Given the description of an element on the screen output the (x, y) to click on. 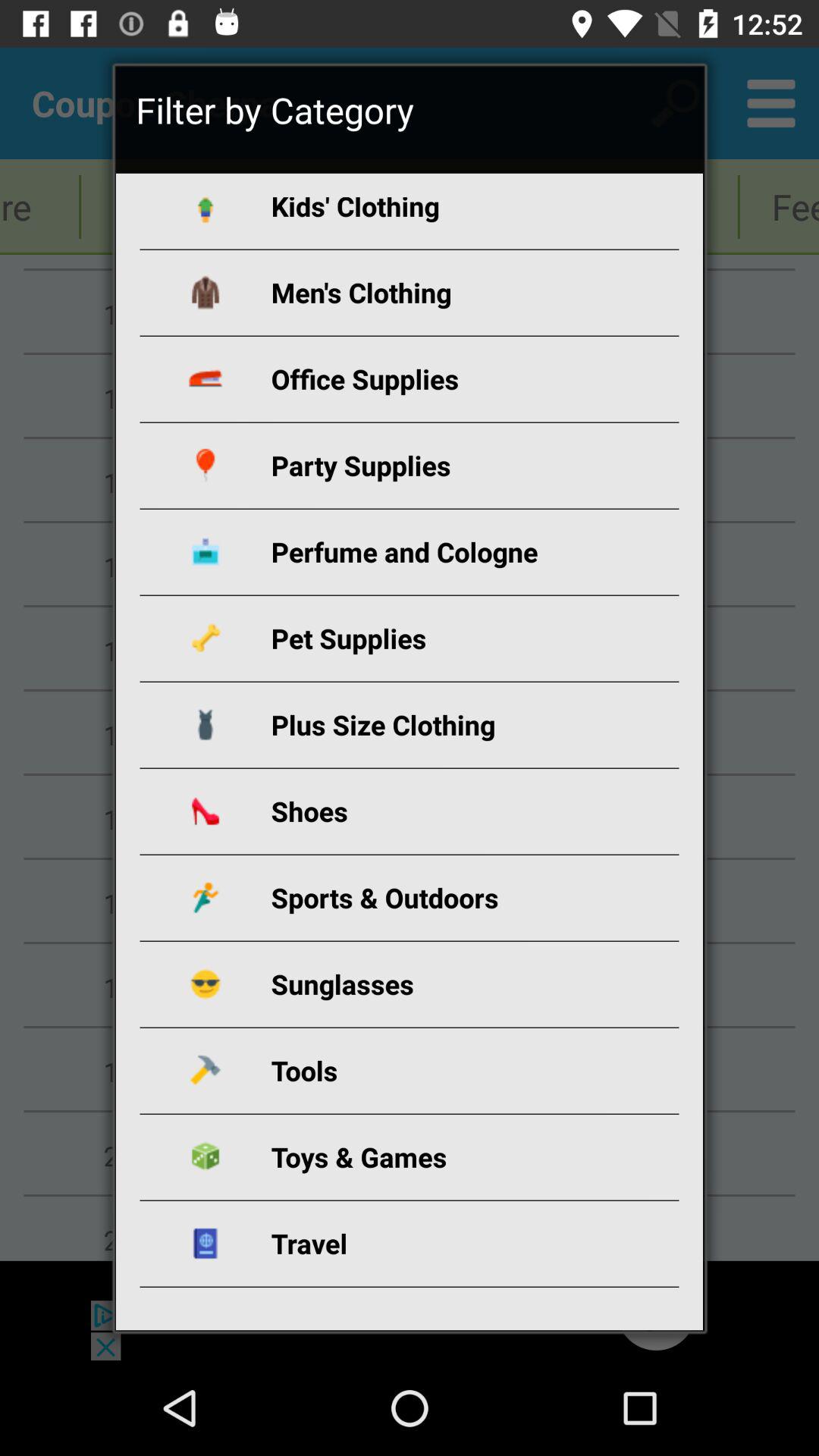
select the app below plus size clothing app (427, 810)
